Given the description of an element on the screen output the (x, y) to click on. 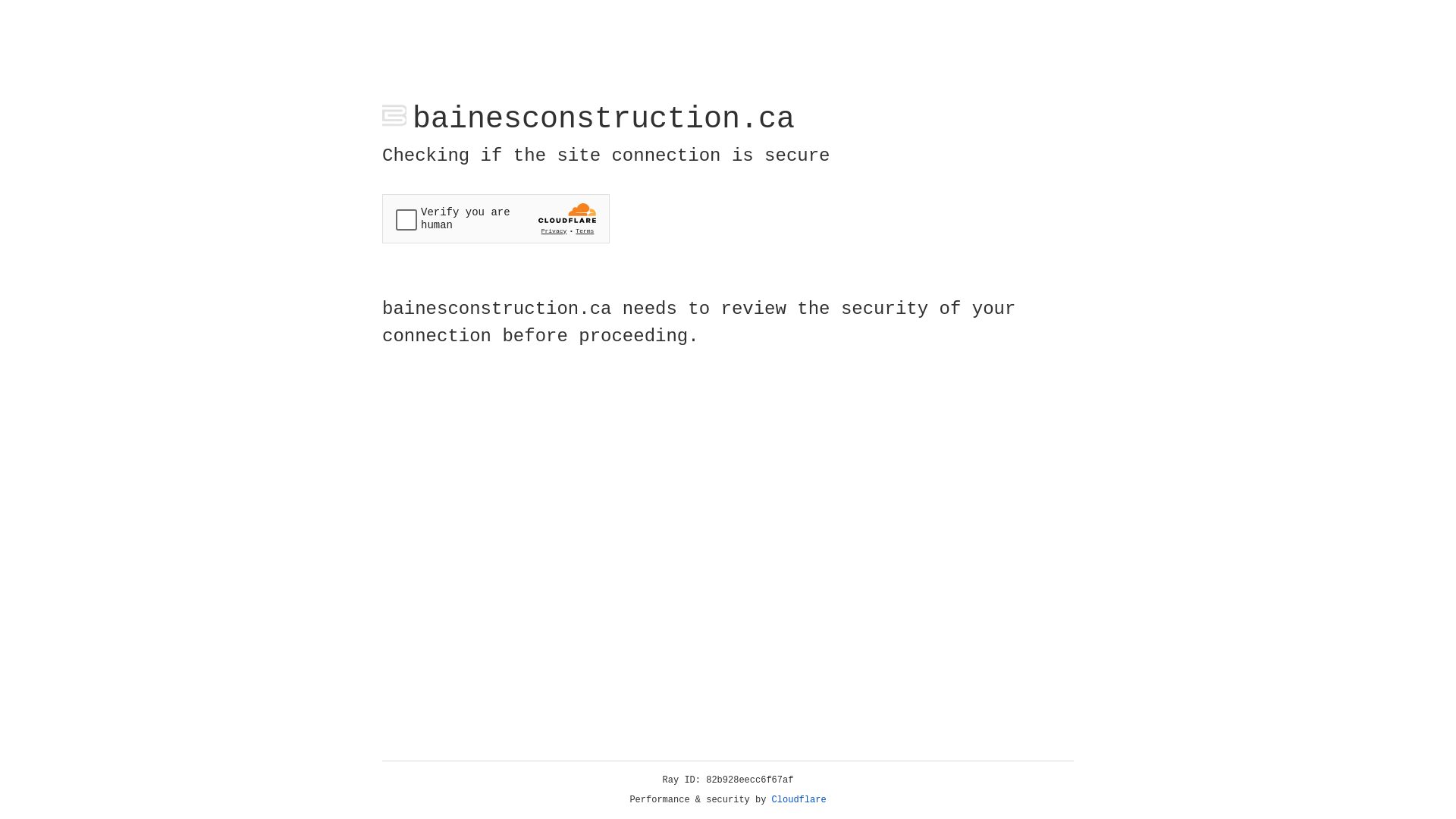
Widget containing a Cloudflare security challenge Element type: hover (495, 218)
Cloudflare Element type: text (798, 799)
